Given the description of an element on the screen output the (x, y) to click on. 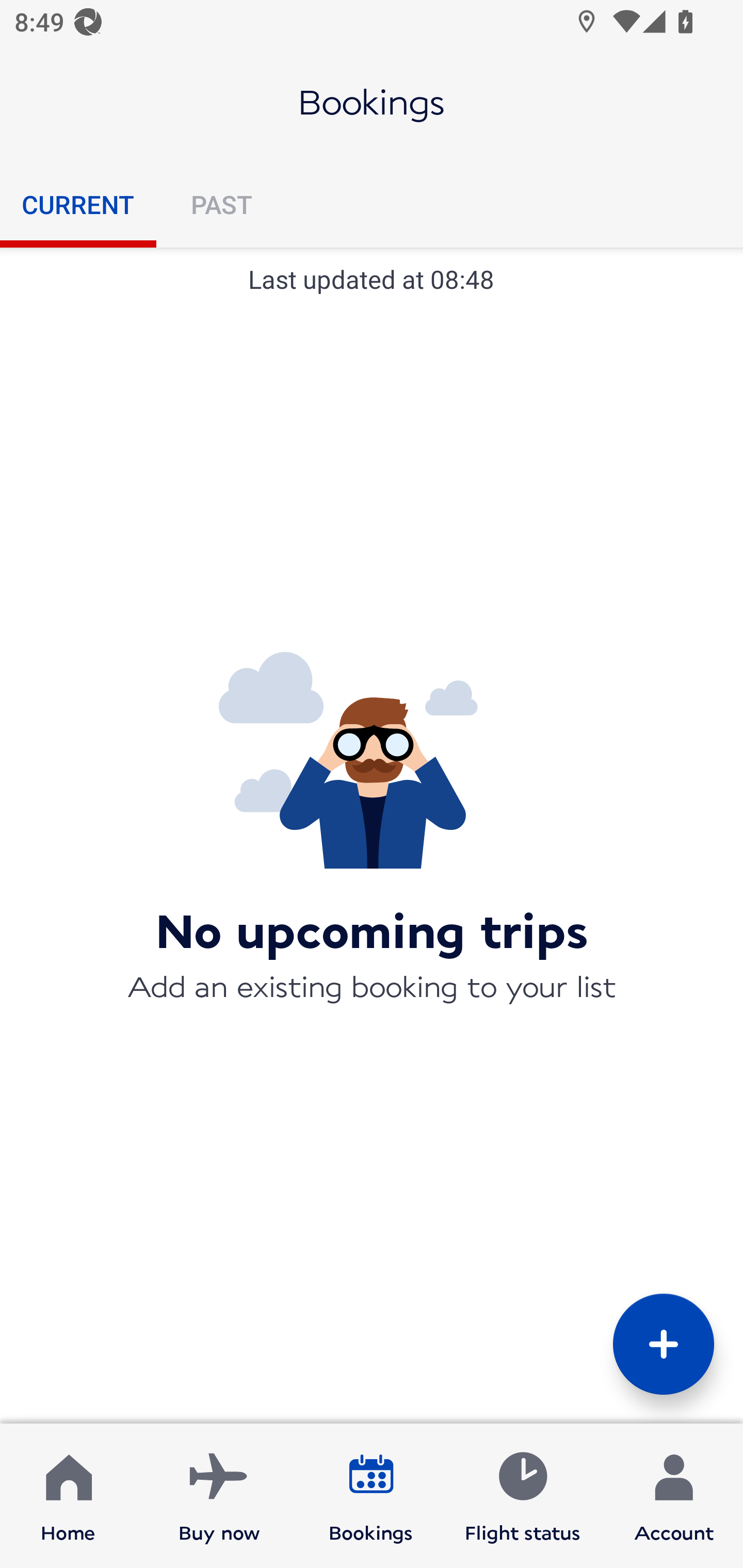
PAST (221, 204)
Home (68, 1495)
Buy now (219, 1495)
Flight status (522, 1495)
Account (674, 1495)
